Given the description of an element on the screen output the (x, y) to click on. 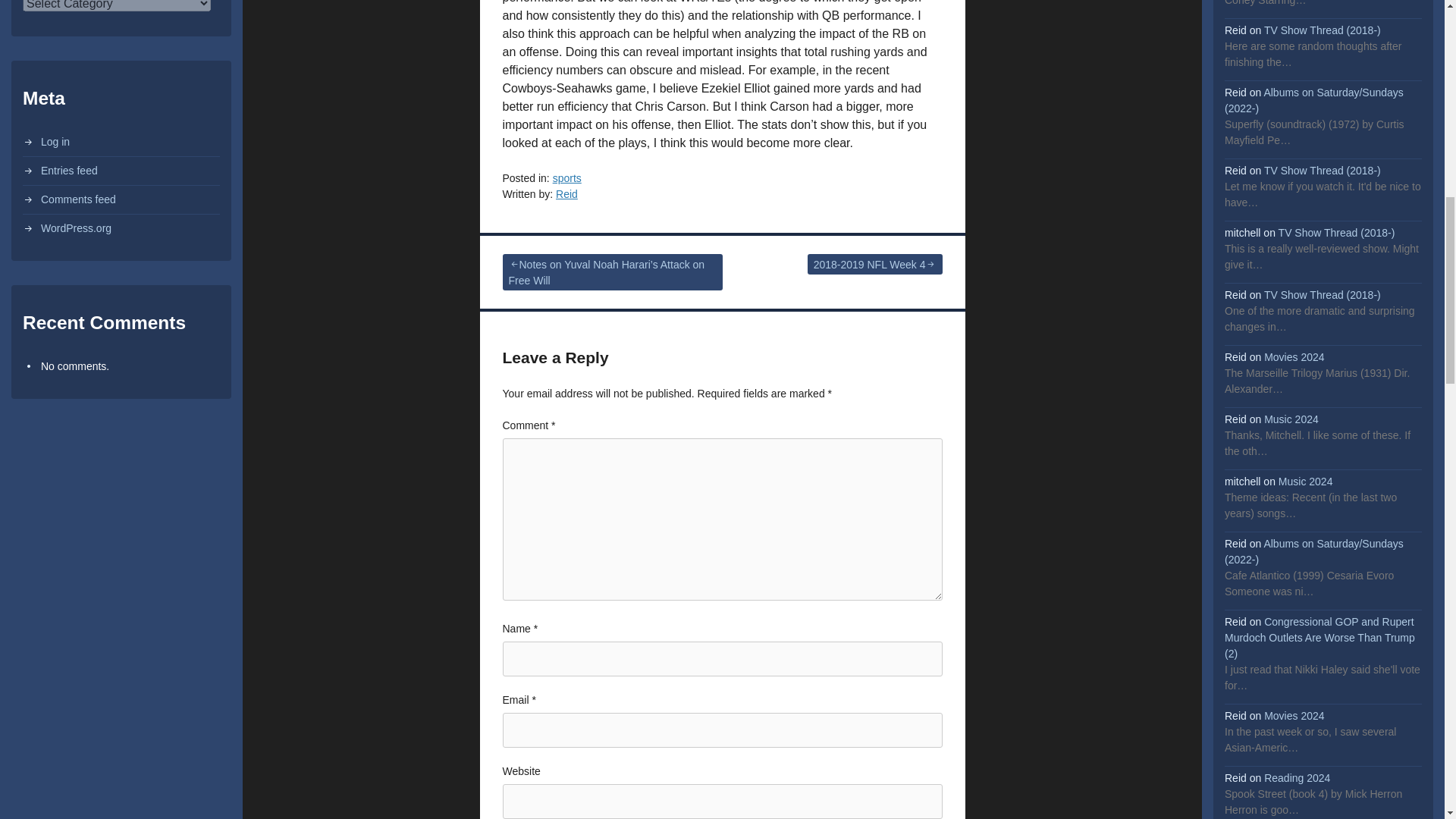
sports (566, 177)
Reid (567, 193)
Comments feed (78, 199)
Music 2024 (1305, 481)
Movies 2024 (1293, 357)
Music 2024 (1291, 419)
2018-2019 NFL Week 4 (875, 263)
Log in (54, 141)
WordPress.org (76, 227)
Entries feed (68, 170)
